Given the description of an element on the screen output the (x, y) to click on. 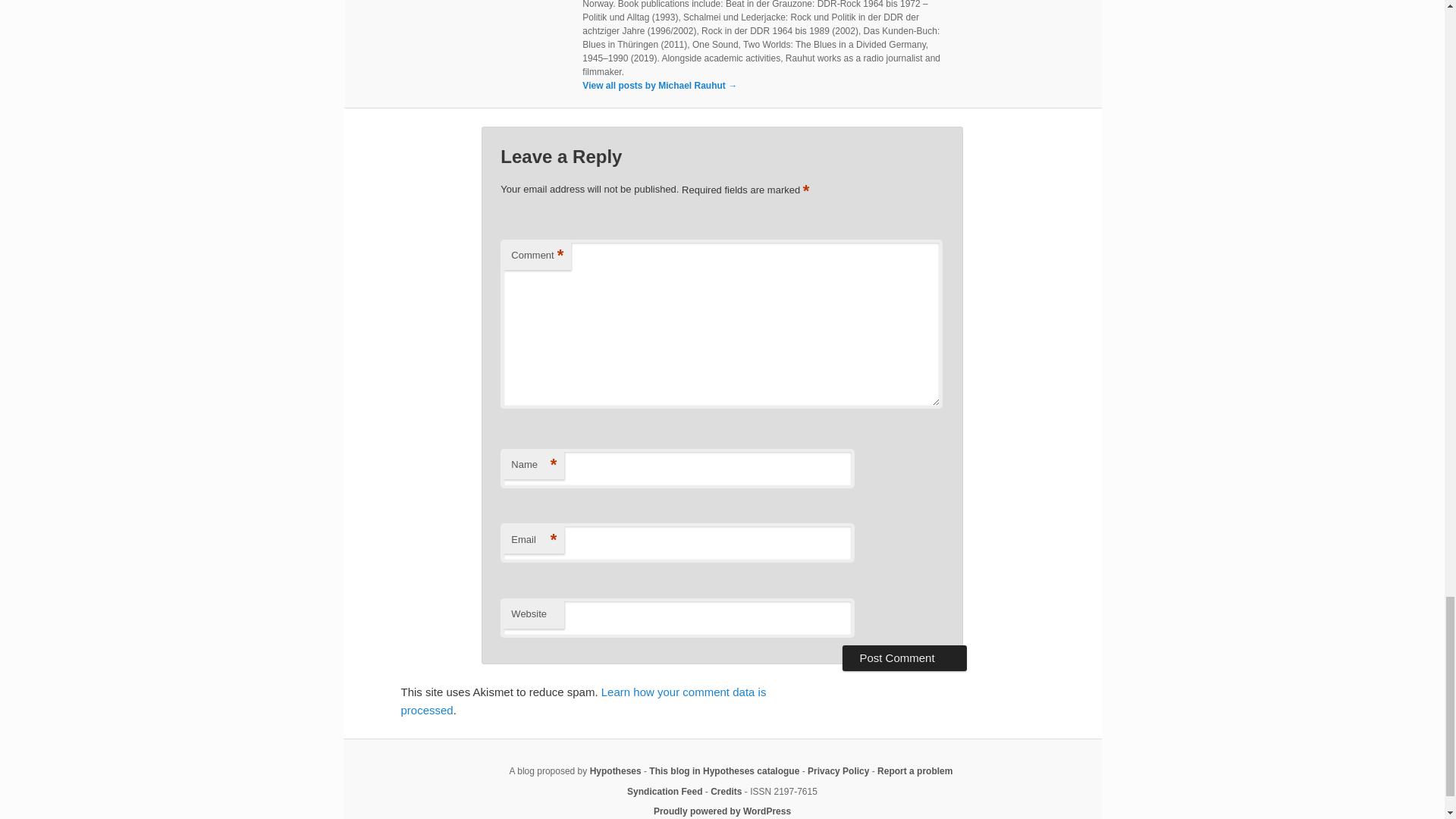
Post Comment (904, 657)
